Given the description of an element on the screen output the (x, y) to click on. 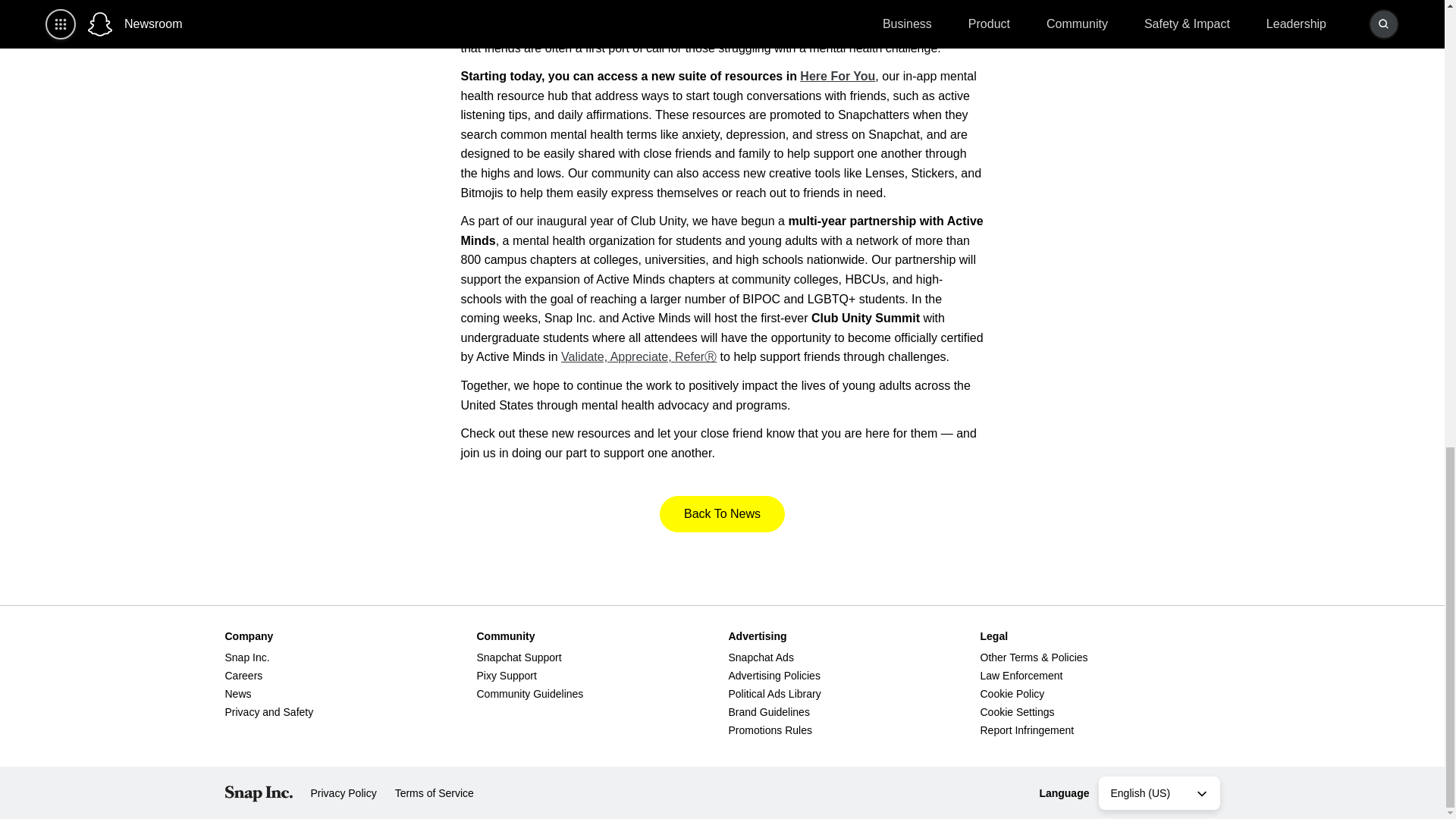
Back To News (721, 514)
Brand Guidelines (768, 711)
Pixy Support (505, 675)
News (237, 693)
Political Ads Library (774, 693)
Snapchat Ads (760, 657)
Privacy Policy (344, 793)
Advertising Policies (773, 675)
Report Infringement (1026, 729)
Careers (243, 675)
